Given the description of an element on the screen output the (x, y) to click on. 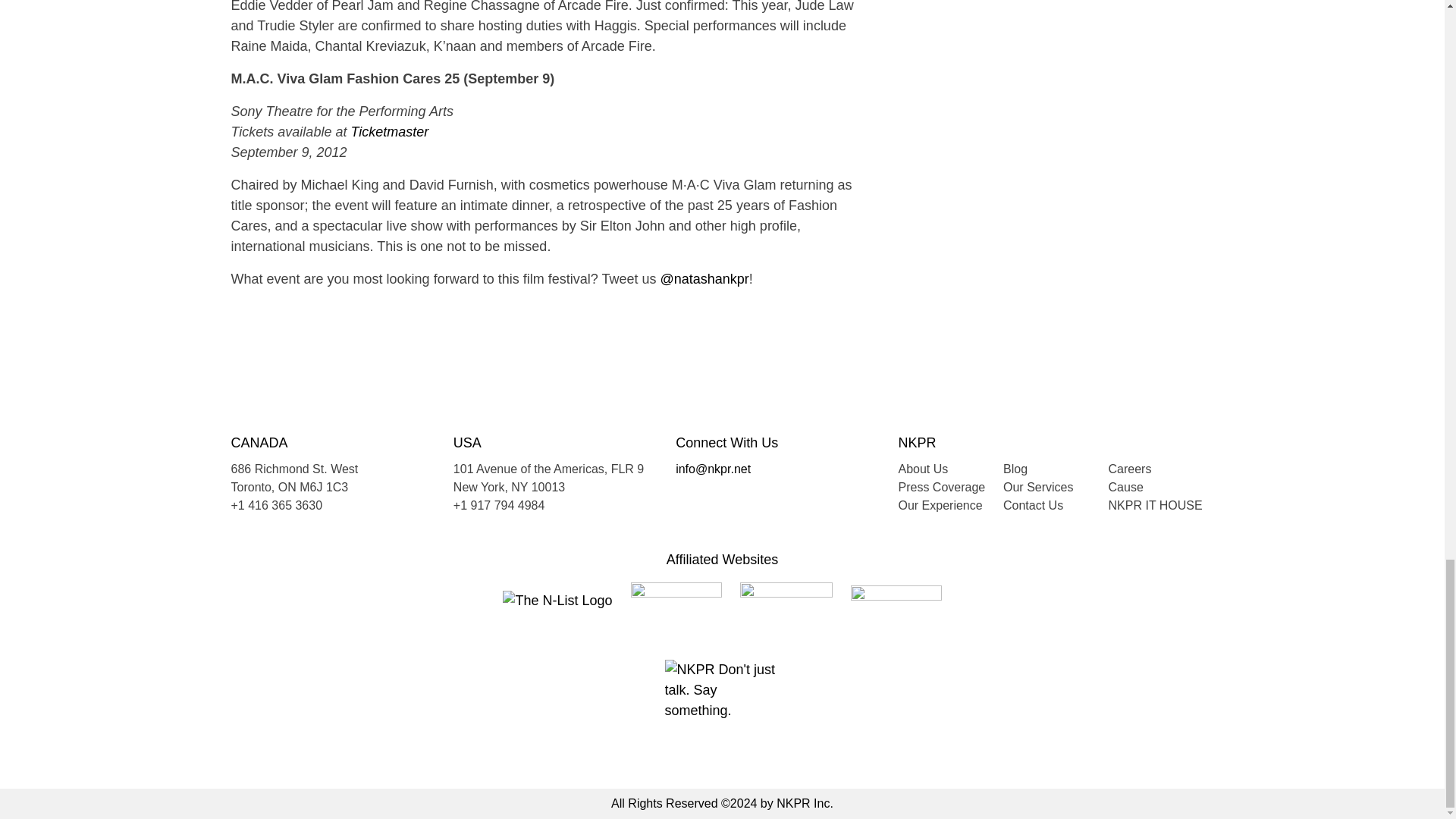
About Us (922, 469)
Our Services (1038, 487)
Blog (1015, 469)
Careers (1129, 469)
Cause (1125, 487)
Contact Us (1032, 505)
Our Experience (939, 505)
Ticketmaster (389, 131)
NKPR IT HOUSE (1155, 505)
Press Coverage (941, 487)
